Given the description of an element on the screen output the (x, y) to click on. 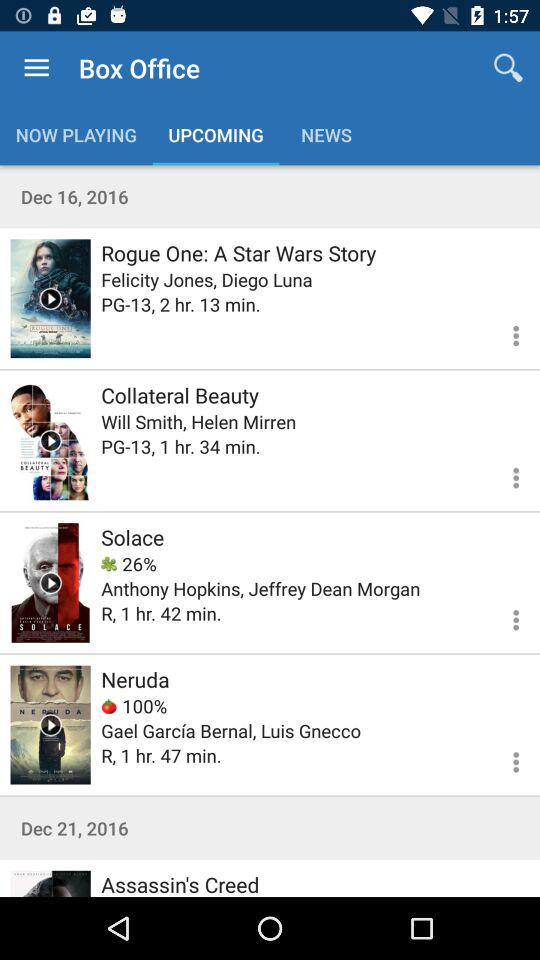
movie options button (503, 759)
